Given the description of an element on the screen output the (x, y) to click on. 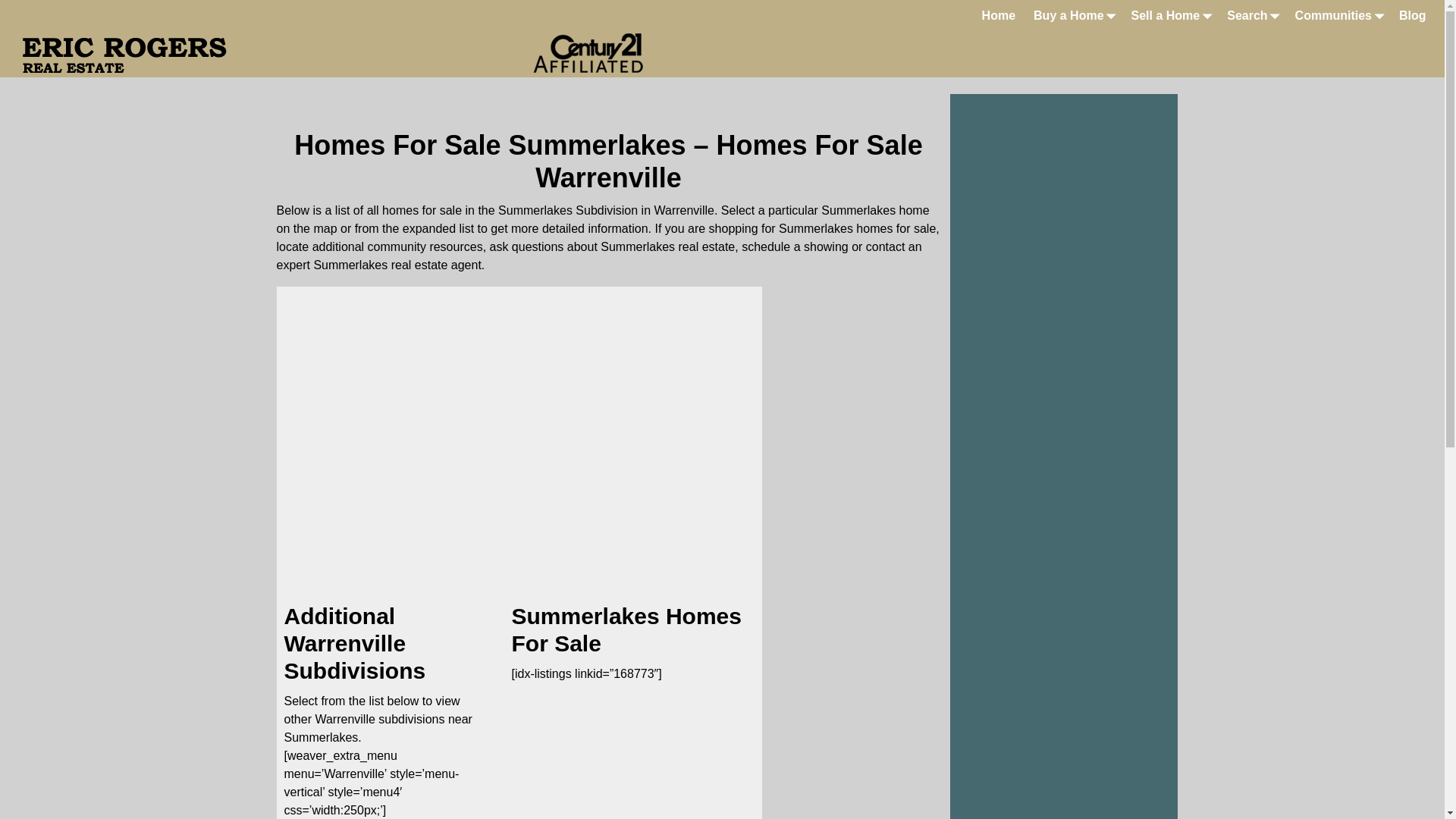
Sell a Home Illinois (1170, 15)
Home (998, 15)
Sell a Home (1170, 15)
Blog (1412, 15)
Buy a Home Illinois (1073, 15)
Buy a Home (1073, 15)
Communities (1337, 15)
Search (1251, 15)
Illinois Communities (1337, 15)
